Given the description of an element on the screen output the (x, y) to click on. 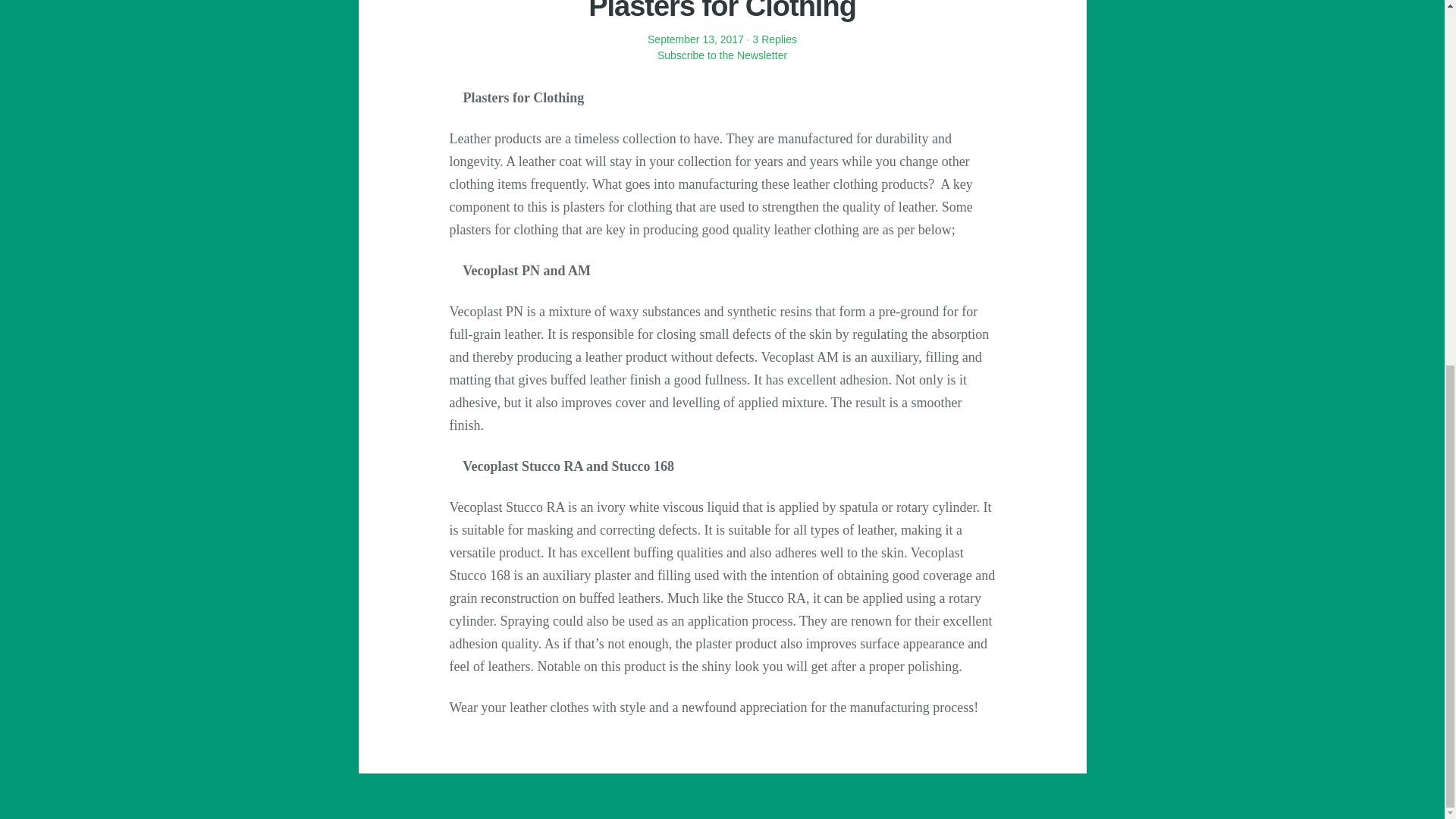
3 Replies (774, 39)
Subscribe to the Newsletter (721, 62)
September 13, 2017 (695, 39)
